Given the description of an element on the screen output the (x, y) to click on. 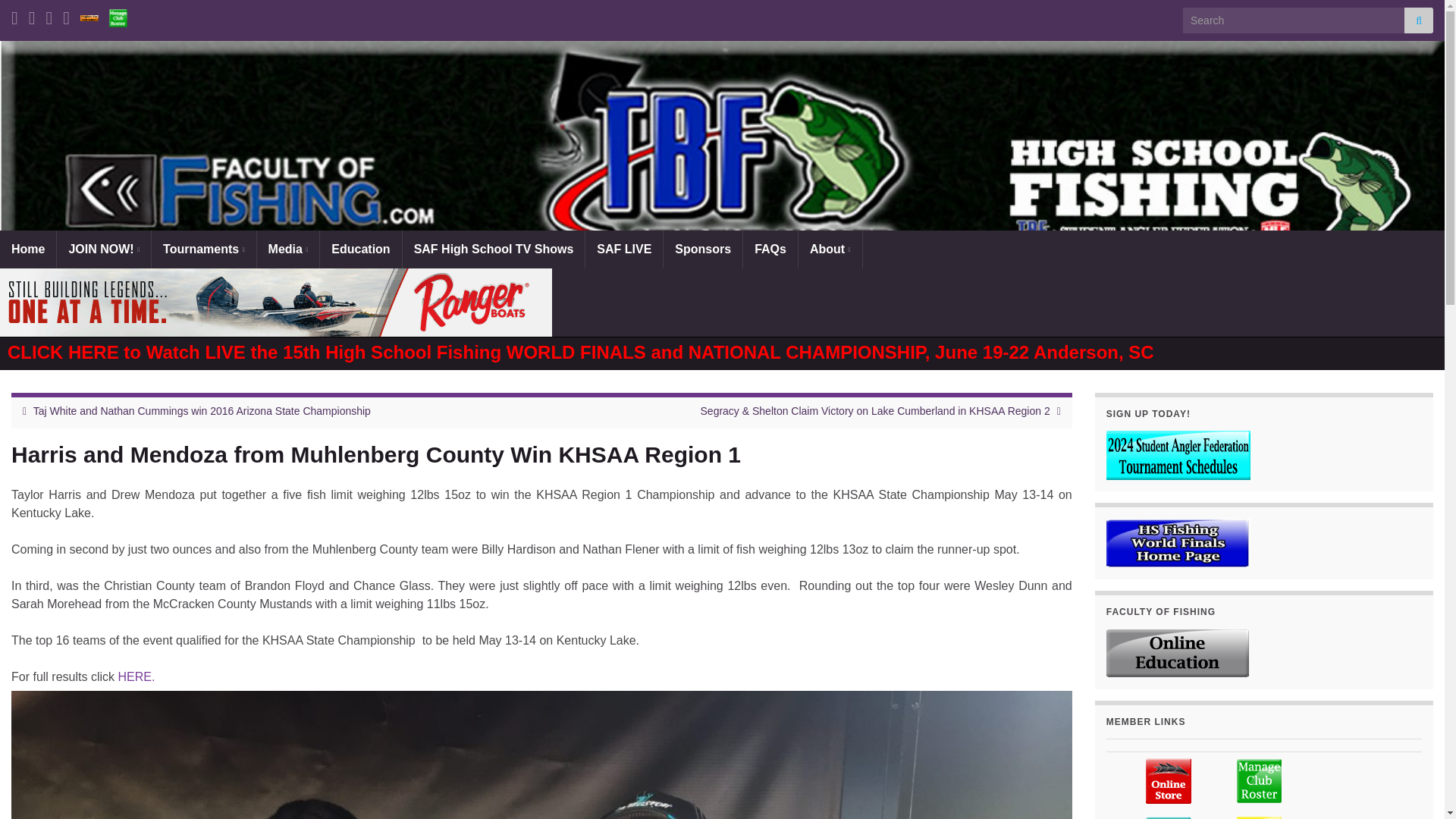
Home (28, 249)
Media (288, 249)
Sign up today! (1178, 454)
Tournaments (203, 249)
Register for Tournament (89, 15)
JOIN NOW! (103, 249)
